Given the description of an element on the screen output the (x, y) to click on. 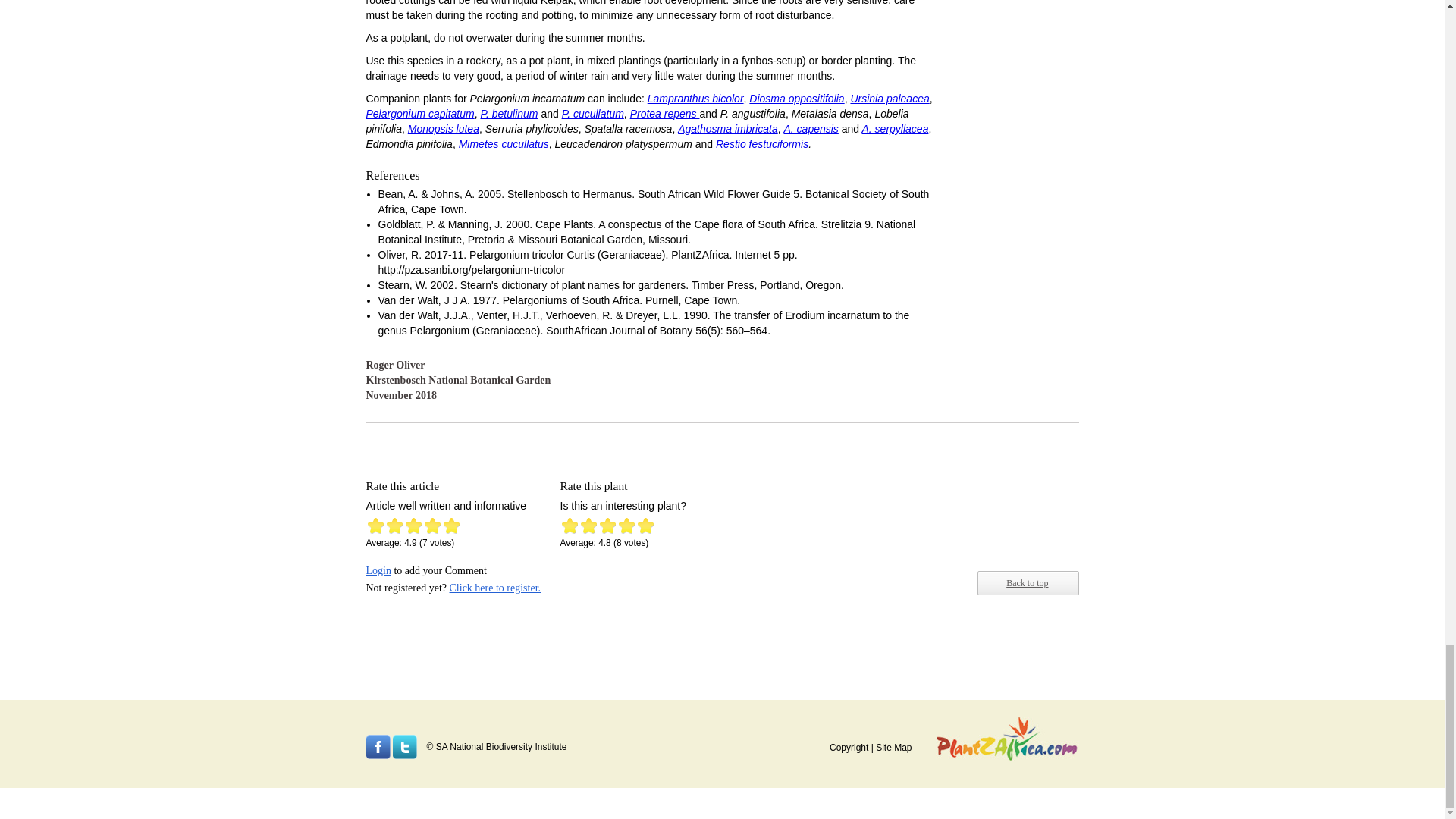
Pelargonium capitatum (419, 113)
P. cucullatum (593, 113)
Agathosma imbricata (727, 128)
Restio festuciformis (762, 143)
Protea repens (665, 113)
A. capensis (810, 128)
Diosma oppositifolia (796, 98)
Monopsis lutea (443, 128)
Lampranthus bicolor (695, 98)
A. serpyllacea (894, 128)
